Given the description of an element on the screen output the (x, y) to click on. 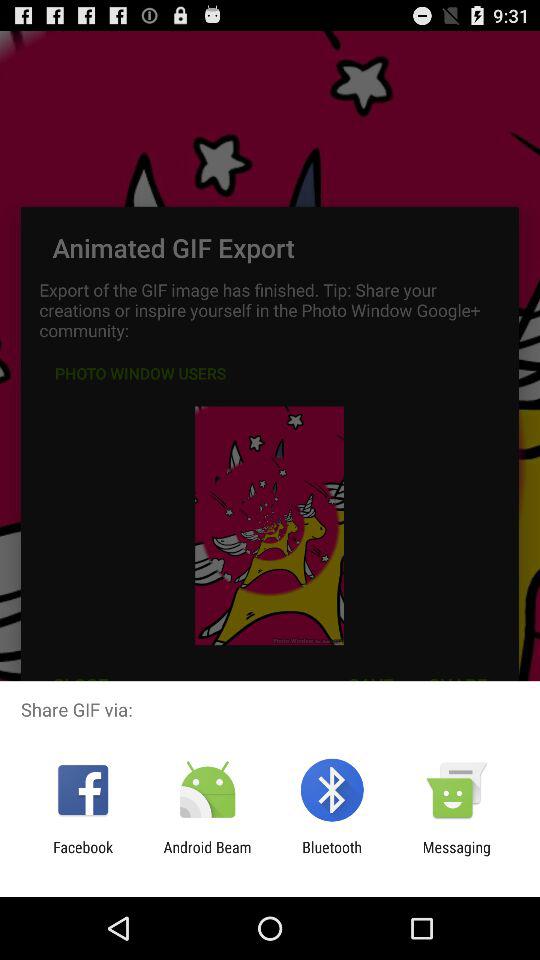
turn off app to the right of the android beam (331, 856)
